Given the description of an element on the screen output the (x, y) to click on. 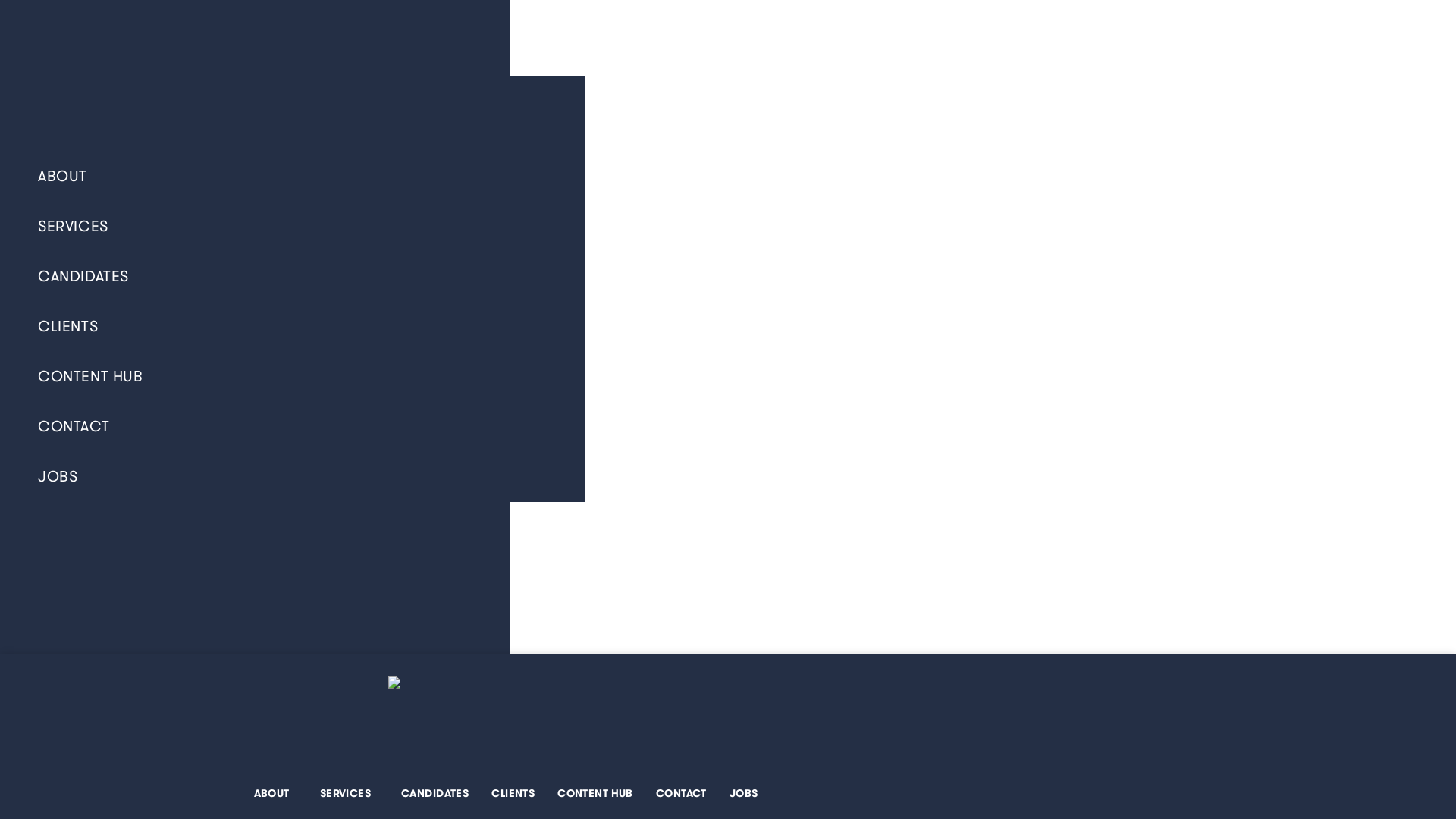
CLIENTS Element type: text (513, 793)
SERVICES Element type: text (292, 226)
CONTENT HUB Element type: text (595, 793)
JOBS Element type: text (292, 476)
CONTACT Element type: text (681, 793)
ABOUT Element type: text (275, 793)
CONTENT HUB Element type: text (292, 376)
ABOUT Element type: text (292, 176)
JOBS Element type: text (743, 793)
CANDIDATES Element type: text (434, 793)
SERVICES Element type: text (348, 793)
CANDIDATES Element type: text (292, 276)
CONTACT Element type: text (292, 426)
CLIENTS Element type: text (292, 326)
